Given the description of an element on the screen output the (x, y) to click on. 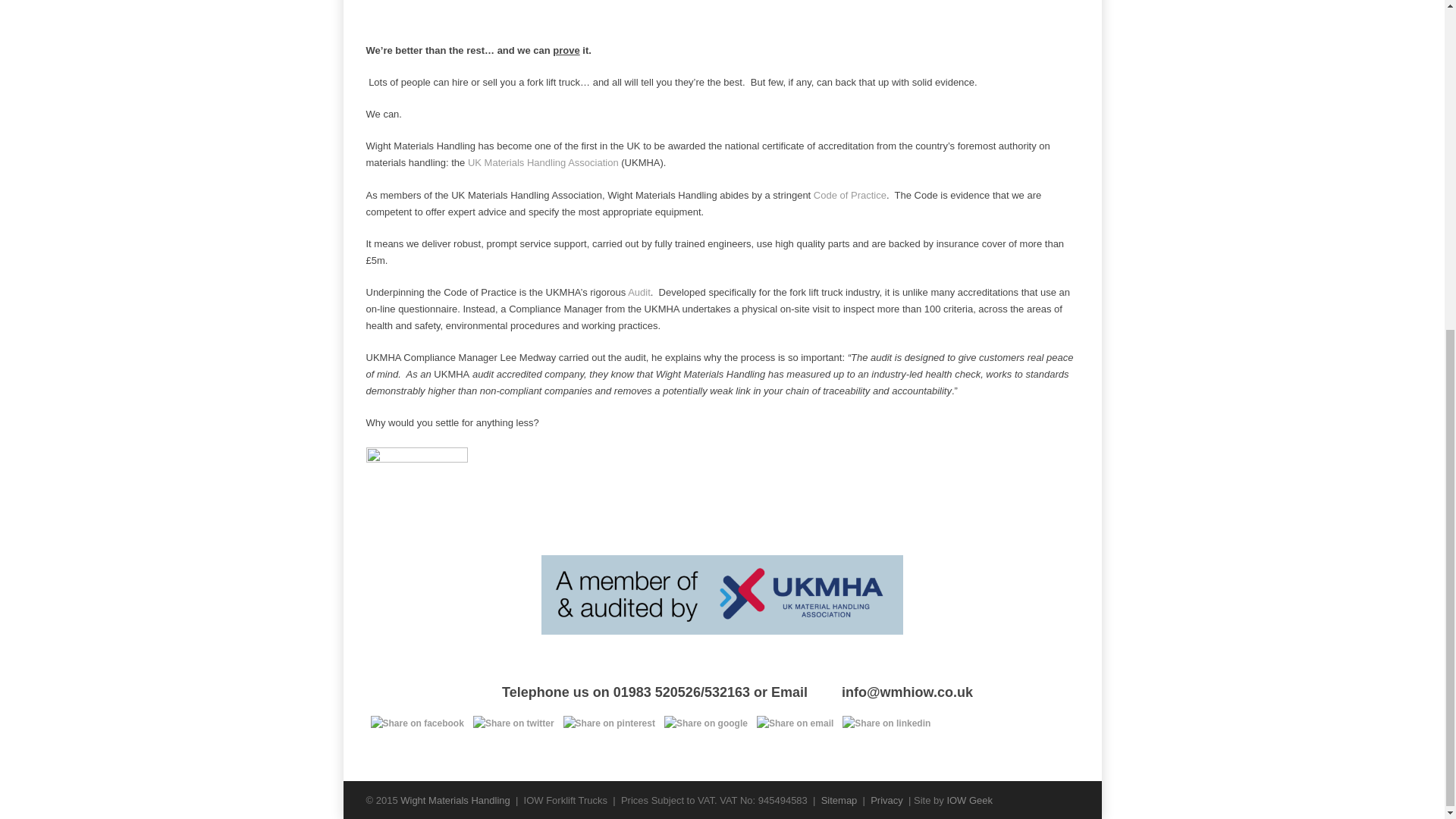
pinterest (609, 723)
Code of Practice (849, 194)
twitter (513, 723)
google (705, 723)
UK Materials Handling Association (542, 162)
IOW Geek (969, 799)
email (795, 723)
linkedin (886, 723)
facebook (416, 723)
Wight Materials Handling (455, 799)
Isle of Wight Forklift Trucks (455, 799)
Sitemap (839, 799)
RSS (1063, 799)
Privacy (886, 799)
Audit (638, 292)
